Given the description of an element on the screen output the (x, y) to click on. 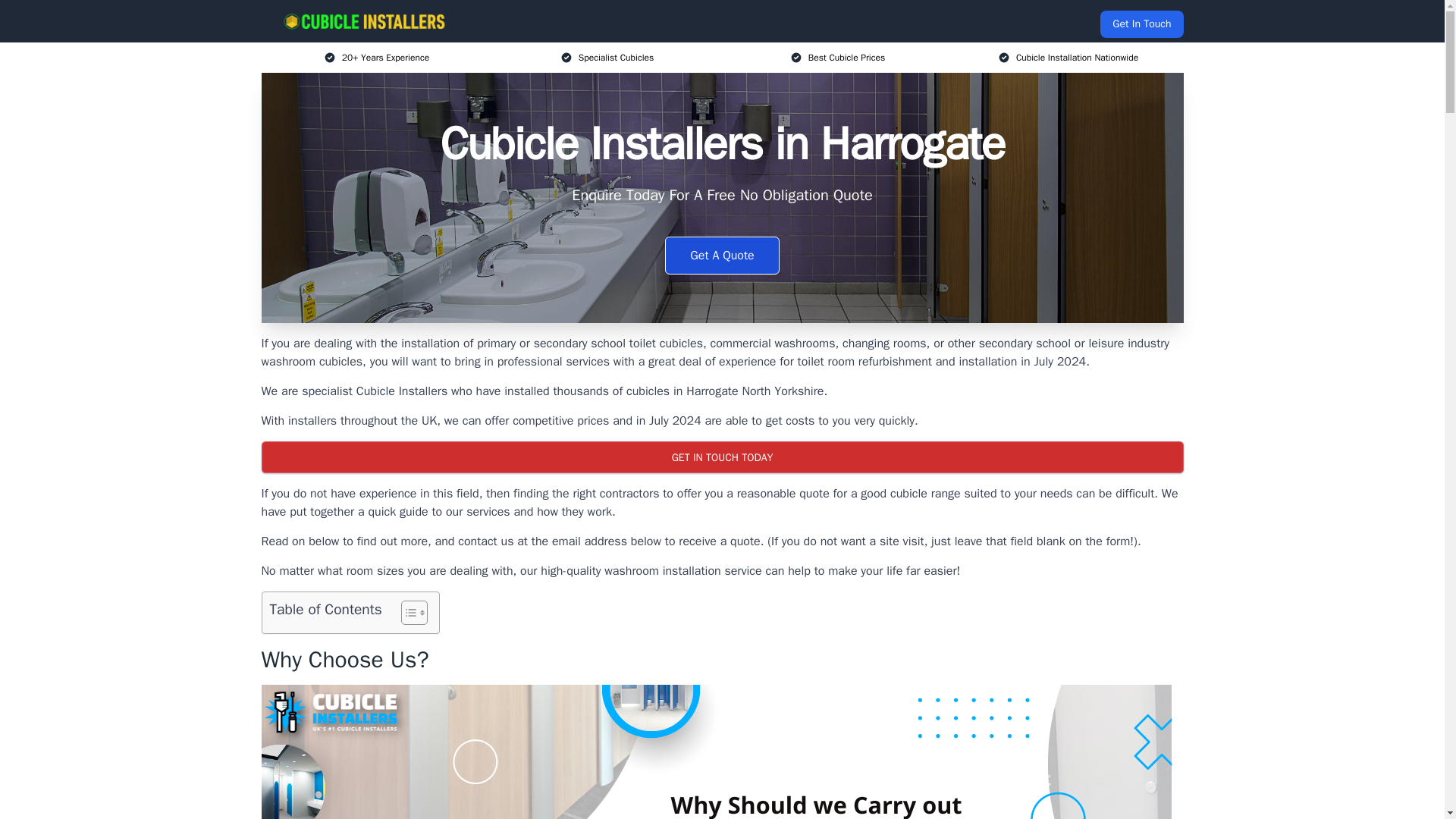
GET IN TOUCH TODAY (721, 457)
Get In Touch (1141, 23)
Get A Quote (721, 255)
